Given the description of an element on the screen output the (x, y) to click on. 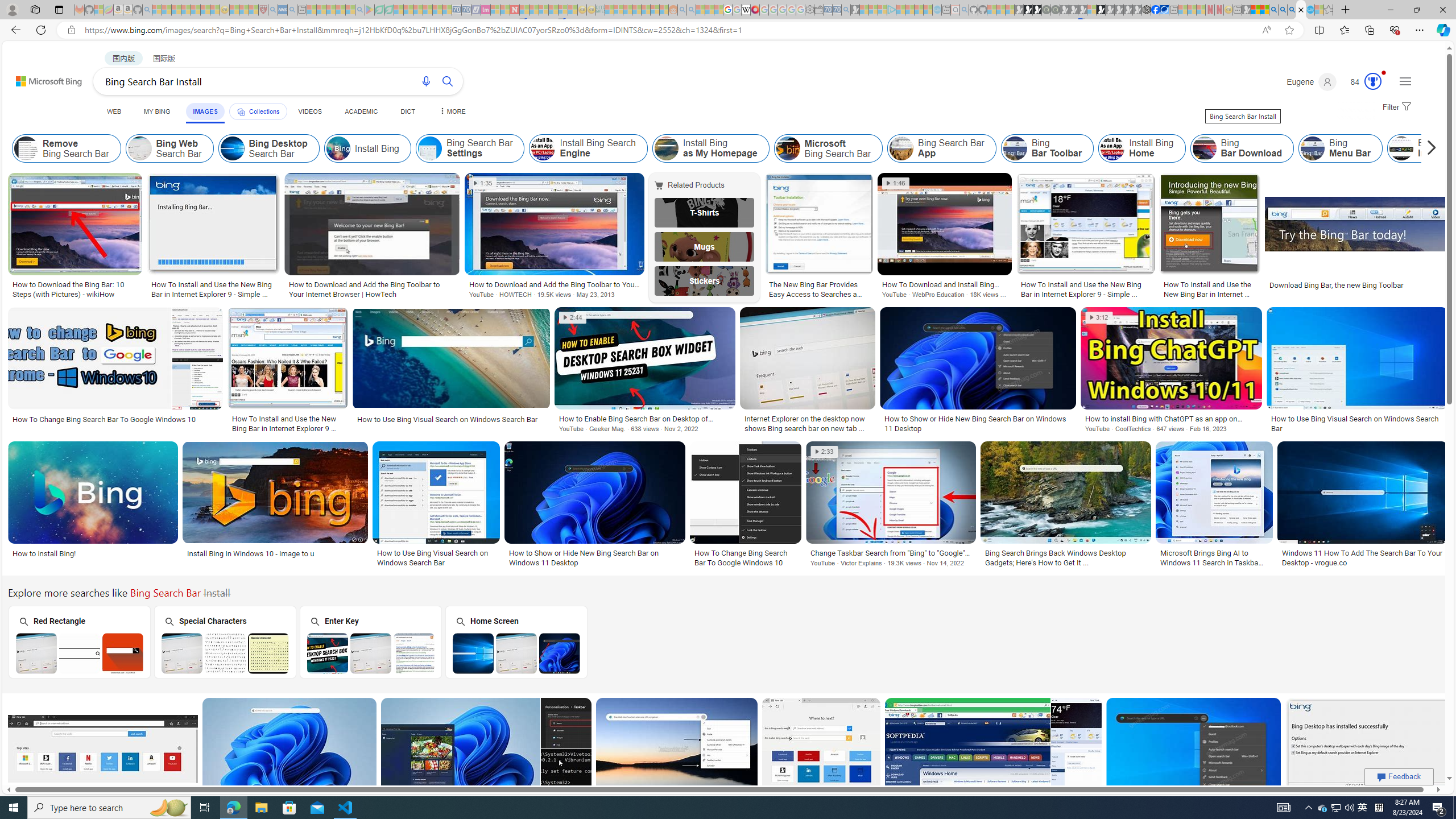
Bing Menu Bar (1312, 148)
T-Shirts (704, 212)
Install Bing Home (1142, 148)
Services - Maintenance | Sky Blue Bikes - Sky Blue Bikes (1309, 9)
ACADEMIC (360, 111)
Bing Desktop Search Bar (231, 148)
Microsoft Bing Search Bar (828, 148)
